Given the description of an element on the screen output the (x, y) to click on. 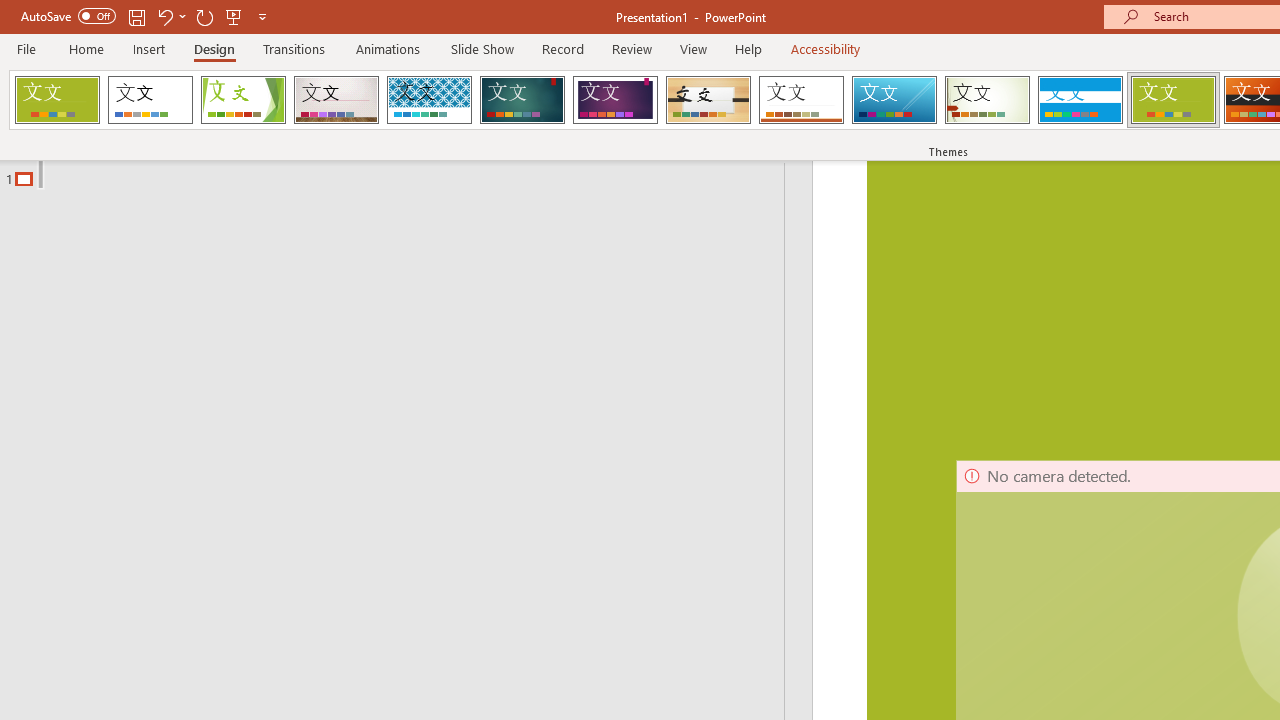
Facet (243, 100)
Banded (1080, 100)
Organic (708, 100)
Integral (429, 100)
Ion Boardroom (615, 100)
